Given the description of an element on the screen output the (x, y) to click on. 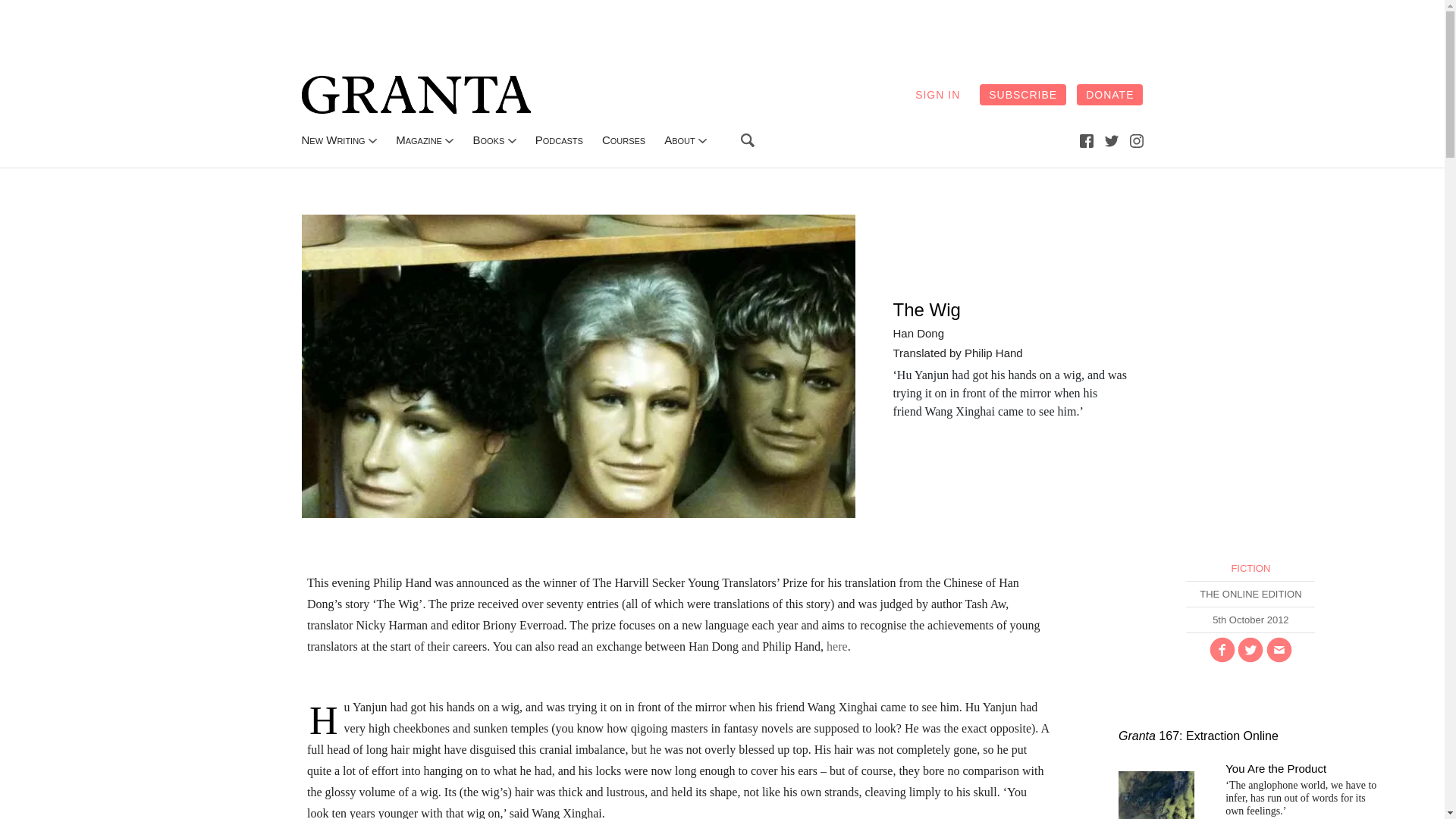
mail-with-circle Created with Sketch. (1279, 649)
books (487, 139)
DONATE (1109, 94)
facebook Created with Sketch. (1086, 140)
Courses (623, 139)
videos (623, 139)
Magazine (419, 139)
SUBSCRIBE (1022, 94)
Books (487, 139)
Podcasts (559, 139)
